Given the description of an element on the screen output the (x, y) to click on. 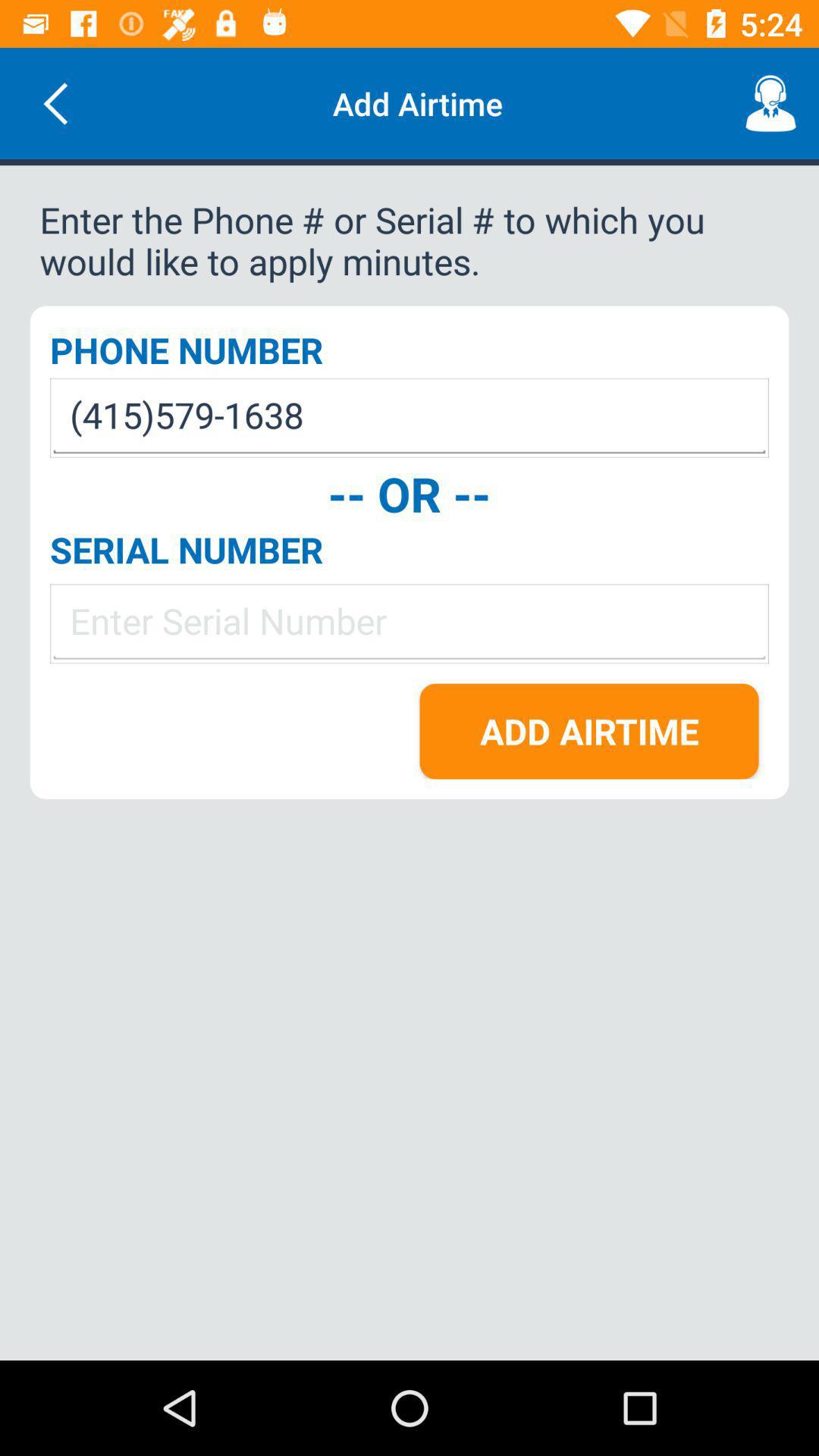
press icon below phone number (409, 417)
